Given the description of an element on the screen output the (x, y) to click on. 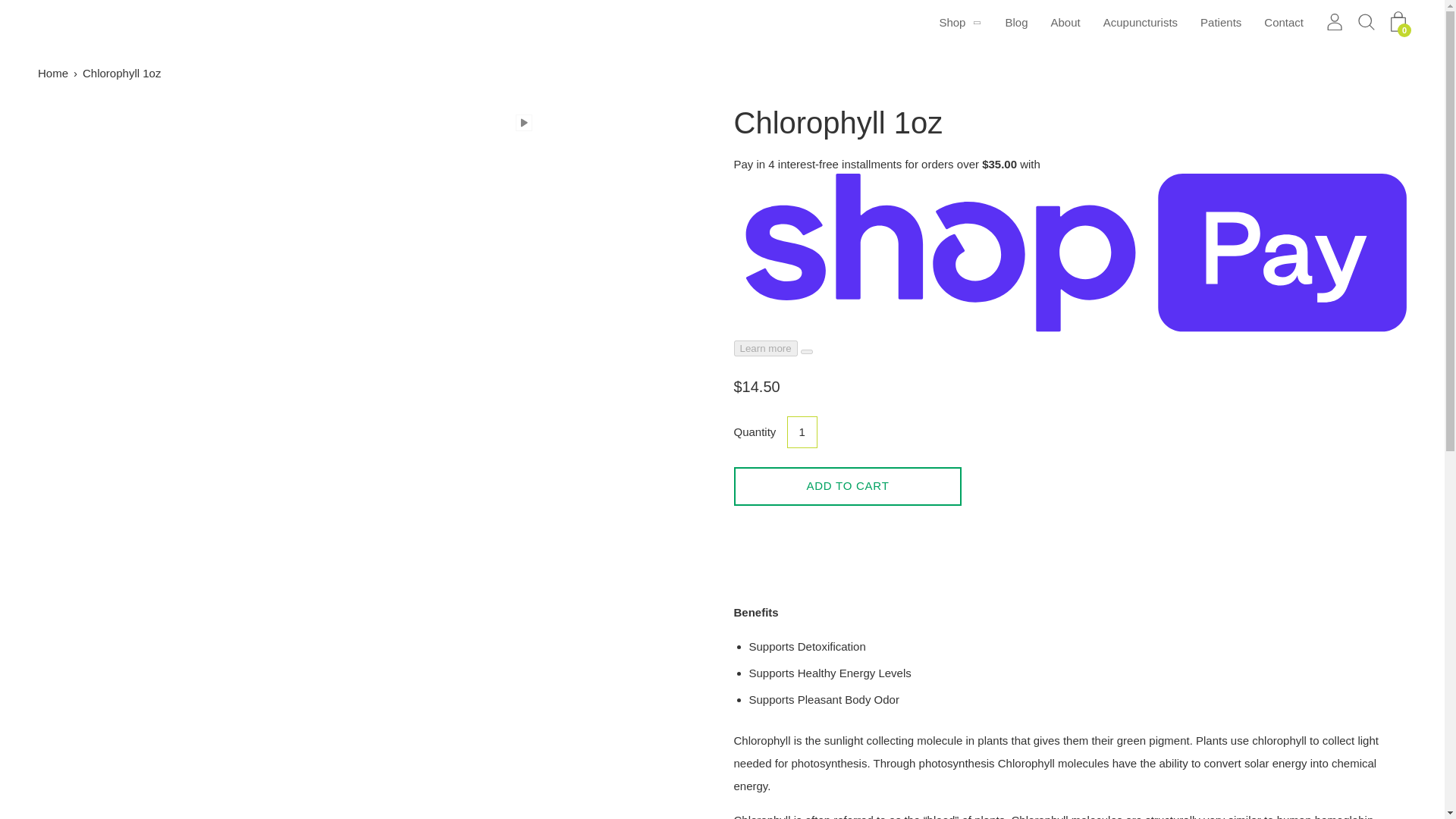
Blog (1015, 22)
Acupuncturists (1140, 22)
1 (801, 431)
Shop (952, 22)
Patients (1220, 22)
Go back to Home page (55, 73)
Contact (1283, 22)
About (1065, 22)
